Given the description of an element on the screen output the (x, y) to click on. 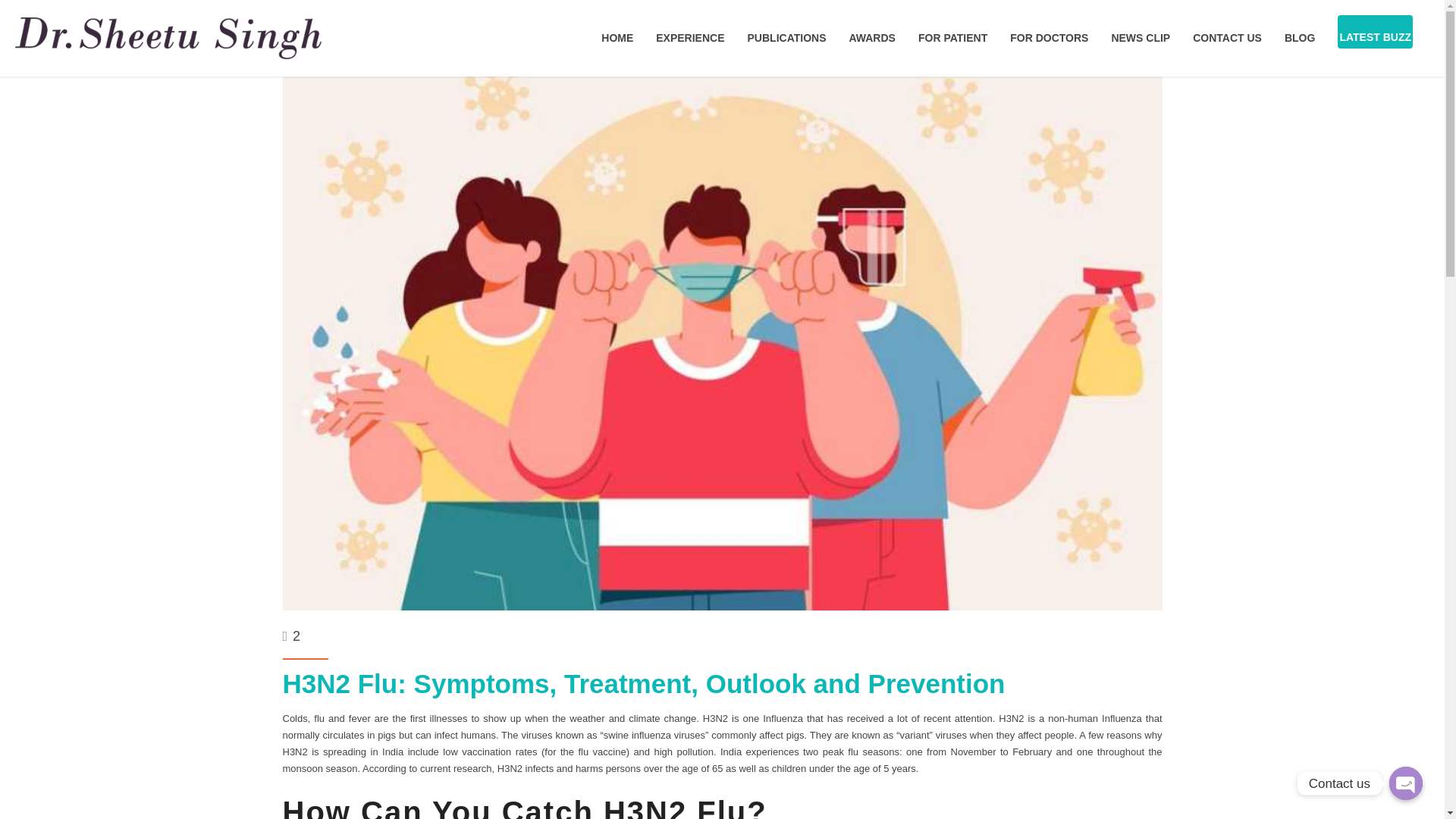
H3N2 (1010, 717)
AWARDS (871, 37)
EXPERIENCE (689, 37)
LATEST BUZZ (1374, 37)
PUBLICATIONS (787, 37)
NEWS CLIP (1140, 37)
FOR DOCTORS (1048, 37)
CONTACT US (1227, 37)
H3N2 Flu: Symptoms, Treatment, Outlook and Prevention (643, 683)
FOR PATIENT (952, 37)
